Given the description of an element on the screen output the (x, y) to click on. 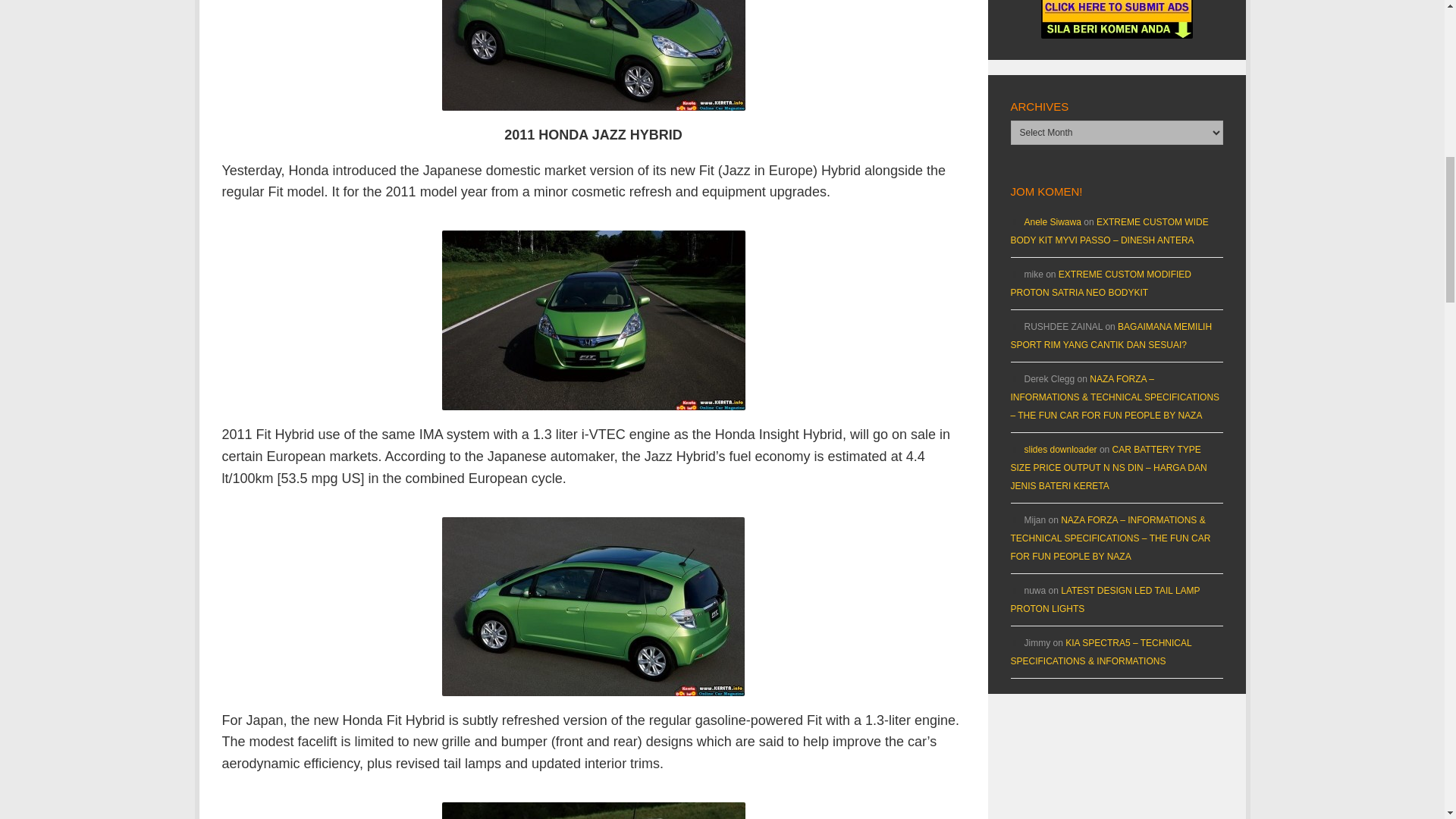
2011-Honda-Fit-Hybrid-Front-View (592, 320)
2011-Honda-Fit-Hybrid-Front-Side-Top-View (592, 55)
2011-Honda-Fit-Hybrid-Rear-Side-Top-View (593, 606)
2011-Honda-Fit-Hybrid-Rear-Angle-View (592, 810)
